Given the description of an element on the screen output the (x, y) to click on. 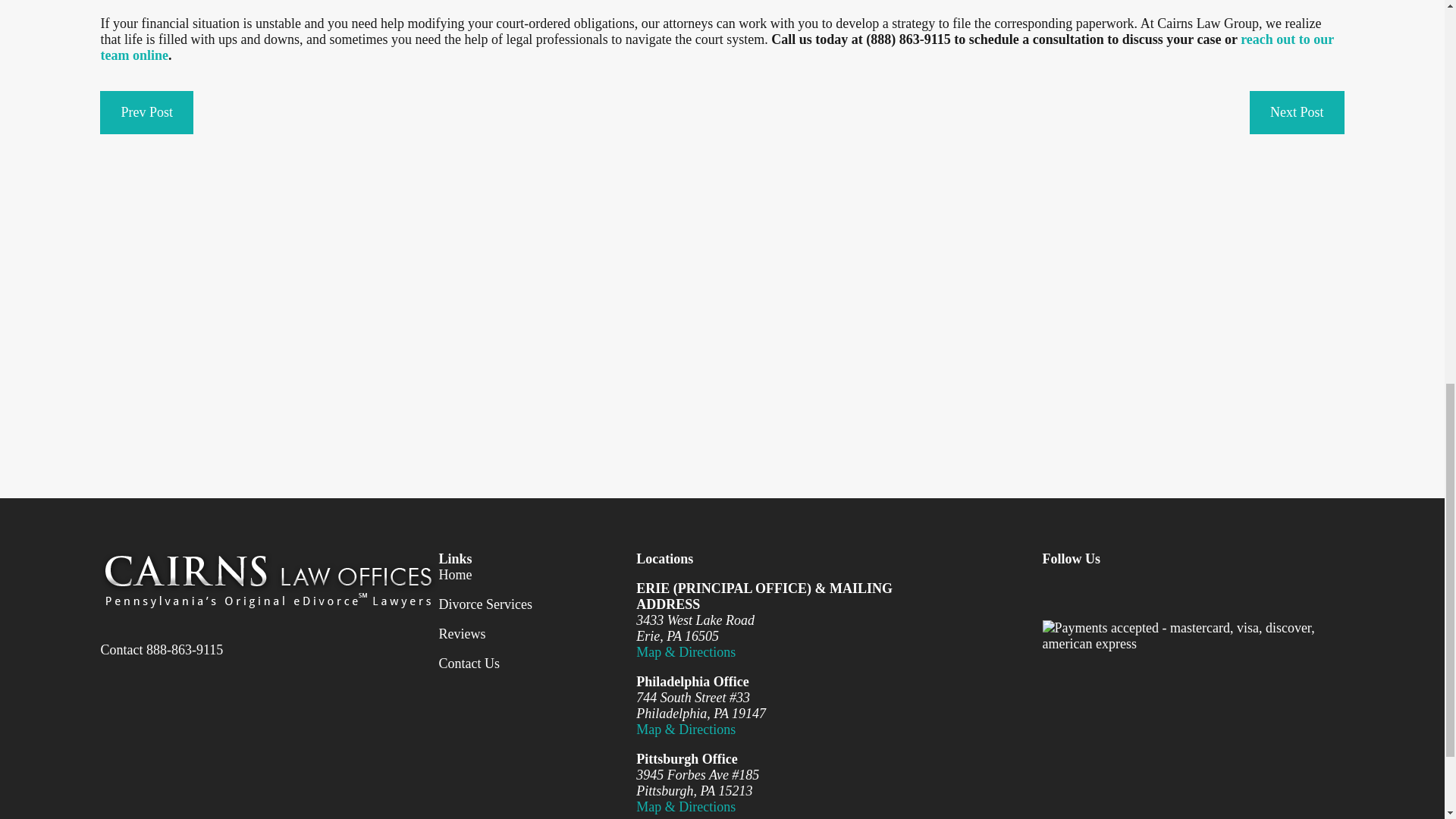
LinkedIn (1149, 589)
Avvo (1248, 589)
Facebook (1051, 589)
Home (269, 579)
Google Business Profile (1198, 589)
Twitter (1099, 589)
